Given the description of an element on the screen output the (x, y) to click on. 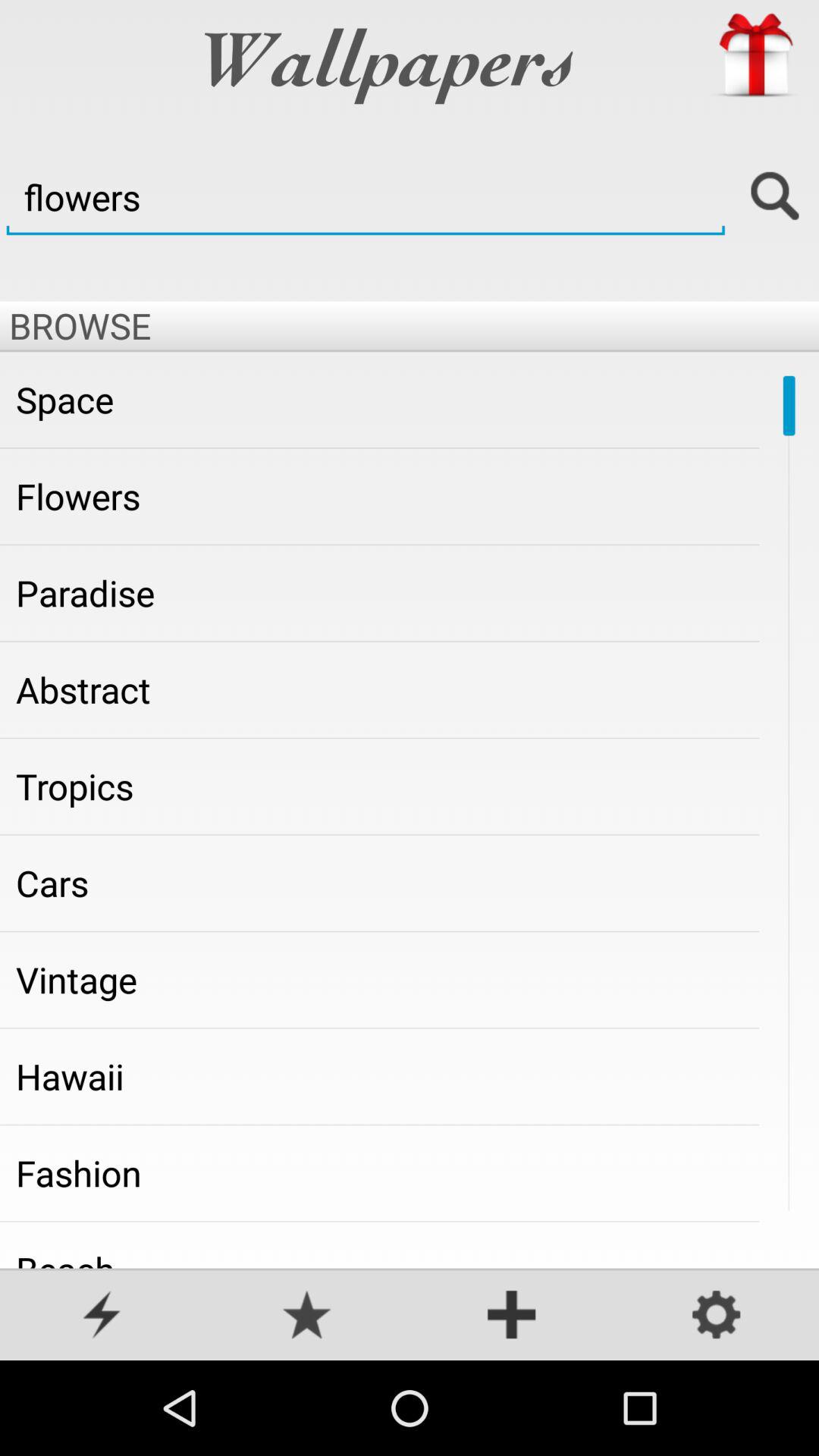
gift box option (755, 55)
